Given the description of an element on the screen output the (x, y) to click on. 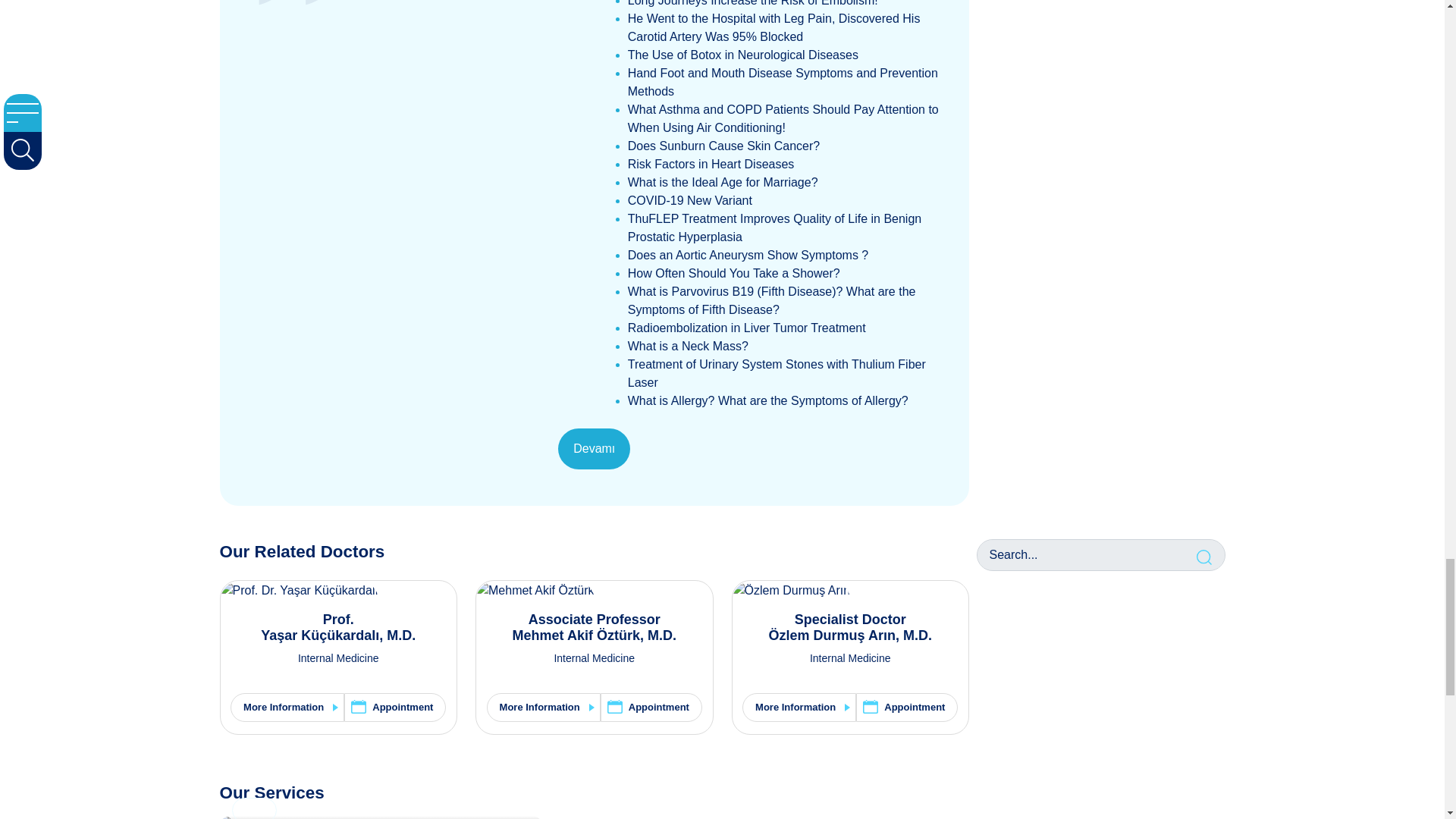
Arama  (1205, 555)
